Given the description of an element on the screen output the (x, y) to click on. 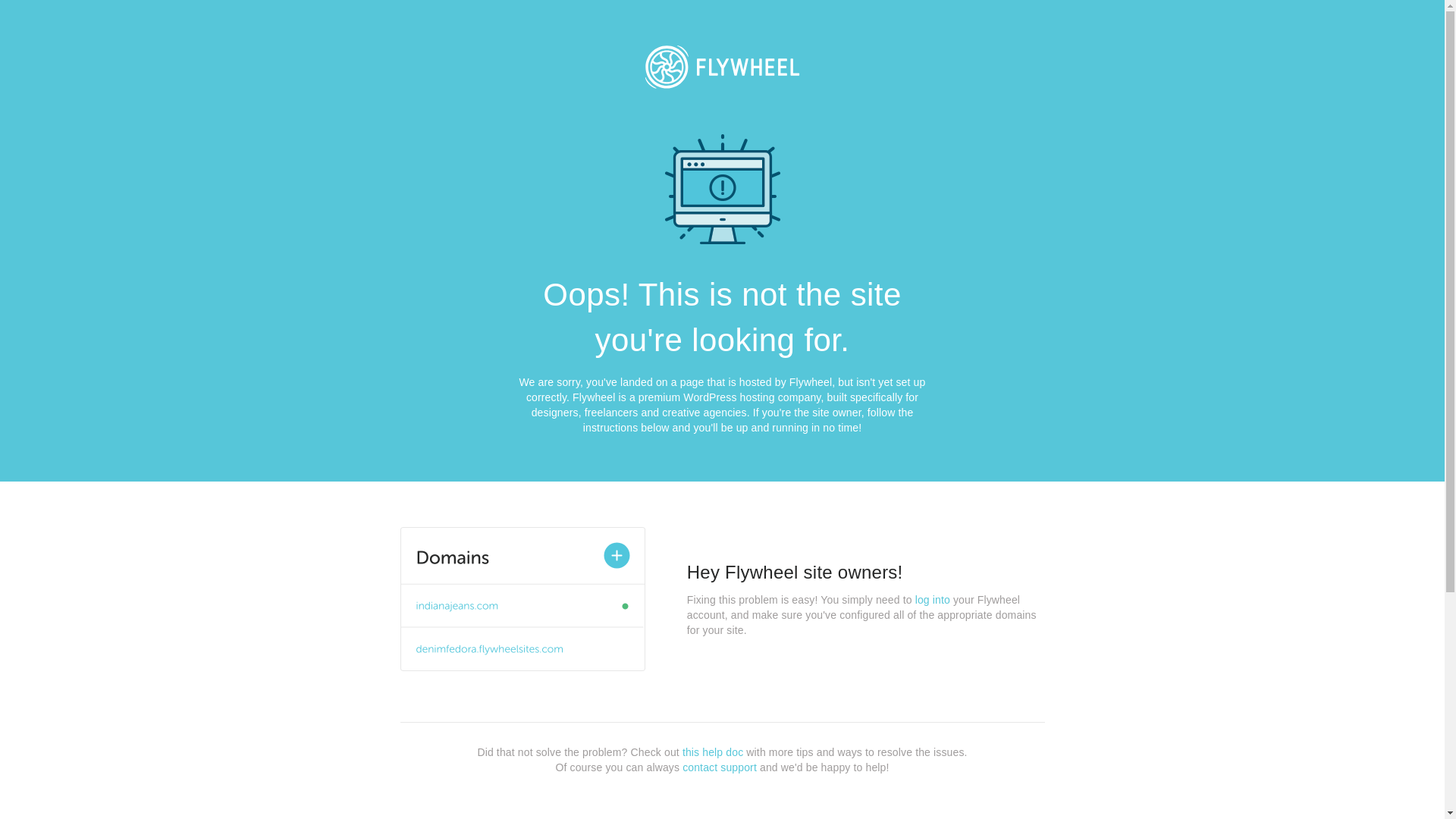
log into (932, 599)
contact support (719, 767)
this help doc (712, 752)
